Given the description of an element on the screen output the (x, y) to click on. 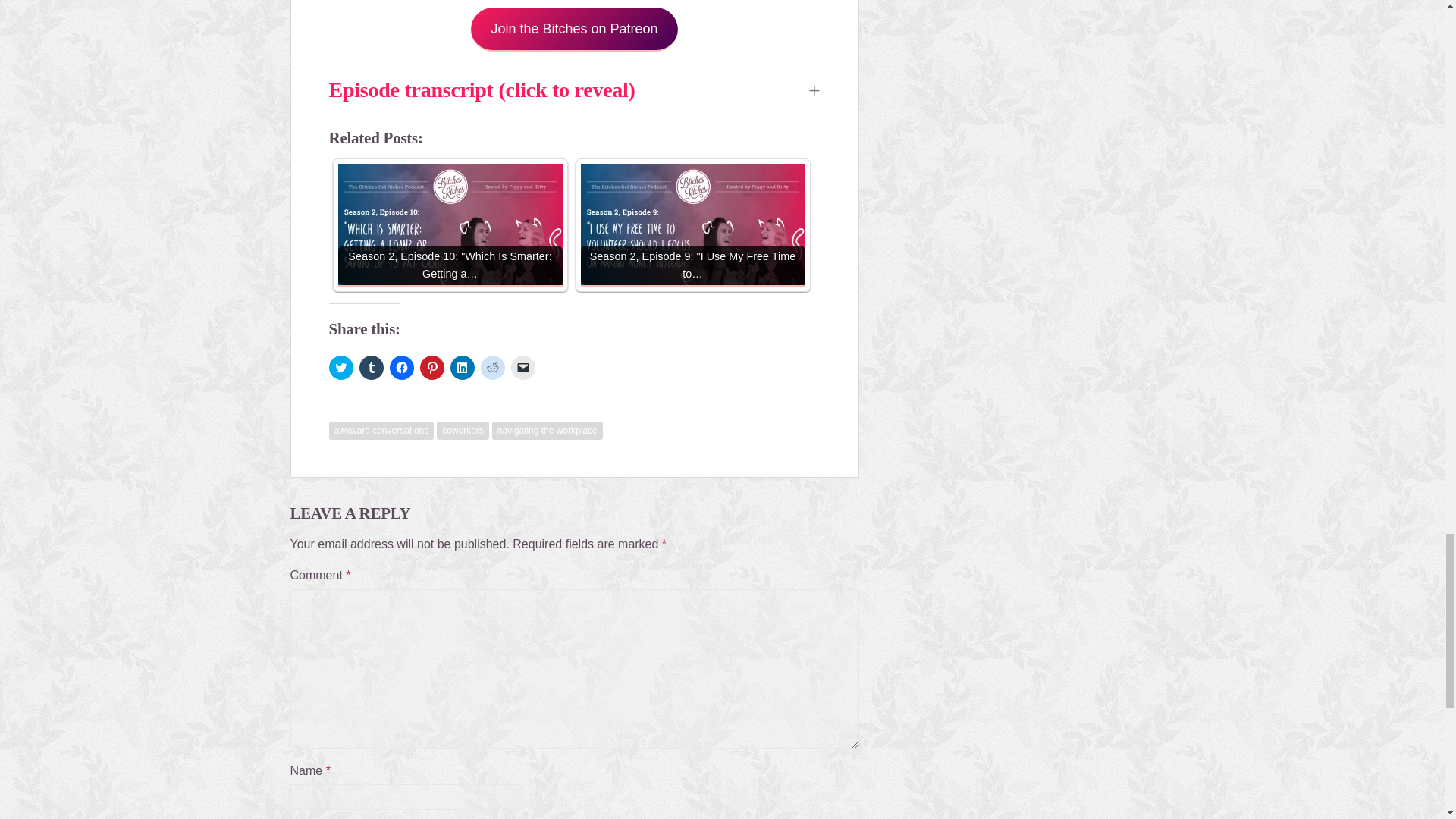
Click to share on LinkedIn (461, 367)
Click to share on Facebook (401, 367)
awkward conversations (381, 430)
Click to email a link to a friend (523, 367)
Click to share on Pinterest (432, 367)
Click to share on Tumblr (371, 367)
navigating the workplace (547, 430)
coworkers (462, 430)
Click to share on Reddit (492, 367)
Join the Bitches on Patreon (573, 29)
Click to share on Twitter (341, 367)
